Given the description of an element on the screen output the (x, y) to click on. 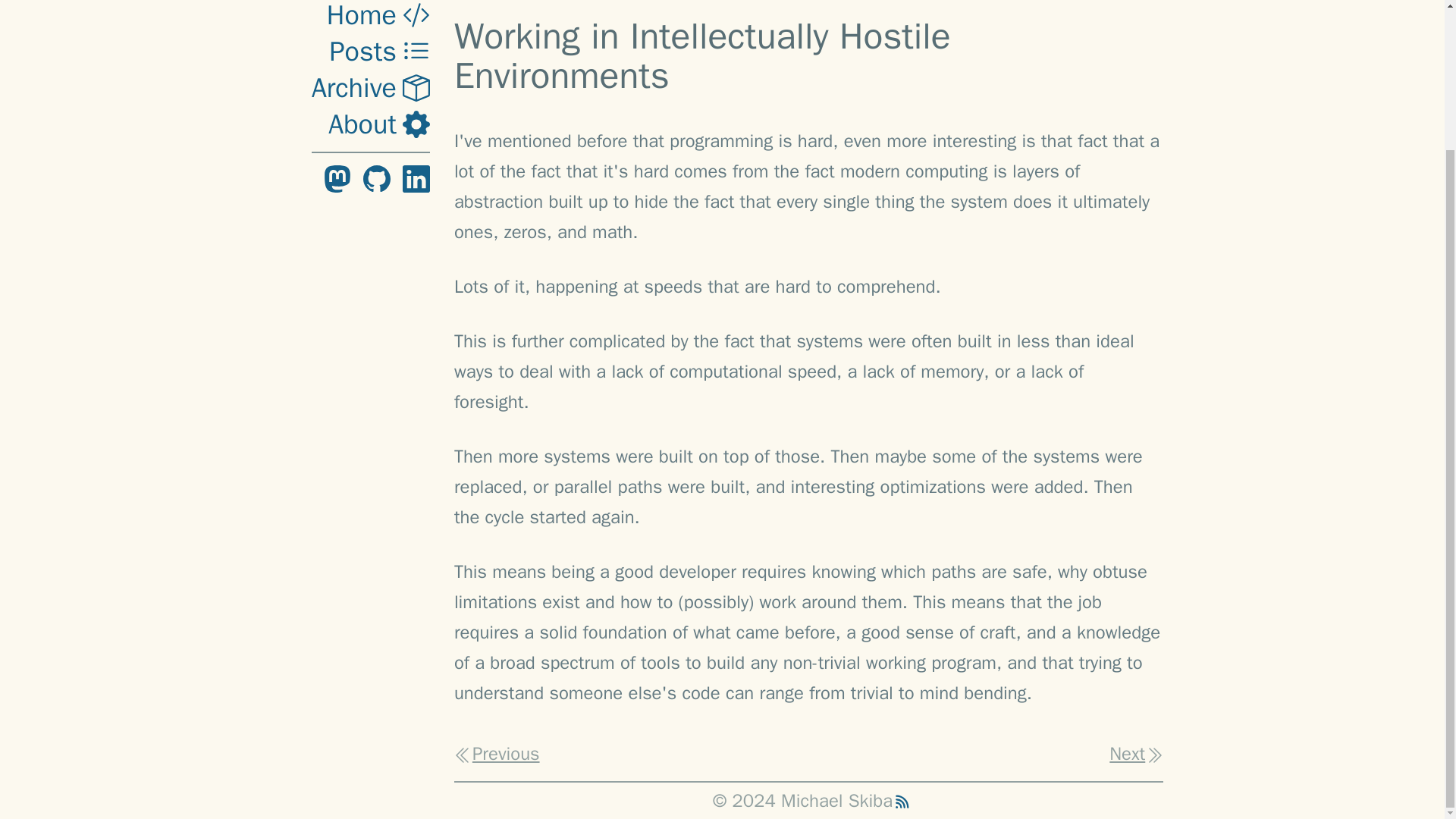
About (379, 37)
Next (1136, 753)
Archive (370, 8)
Previous (497, 753)
